Given the description of an element on the screen output the (x, y) to click on. 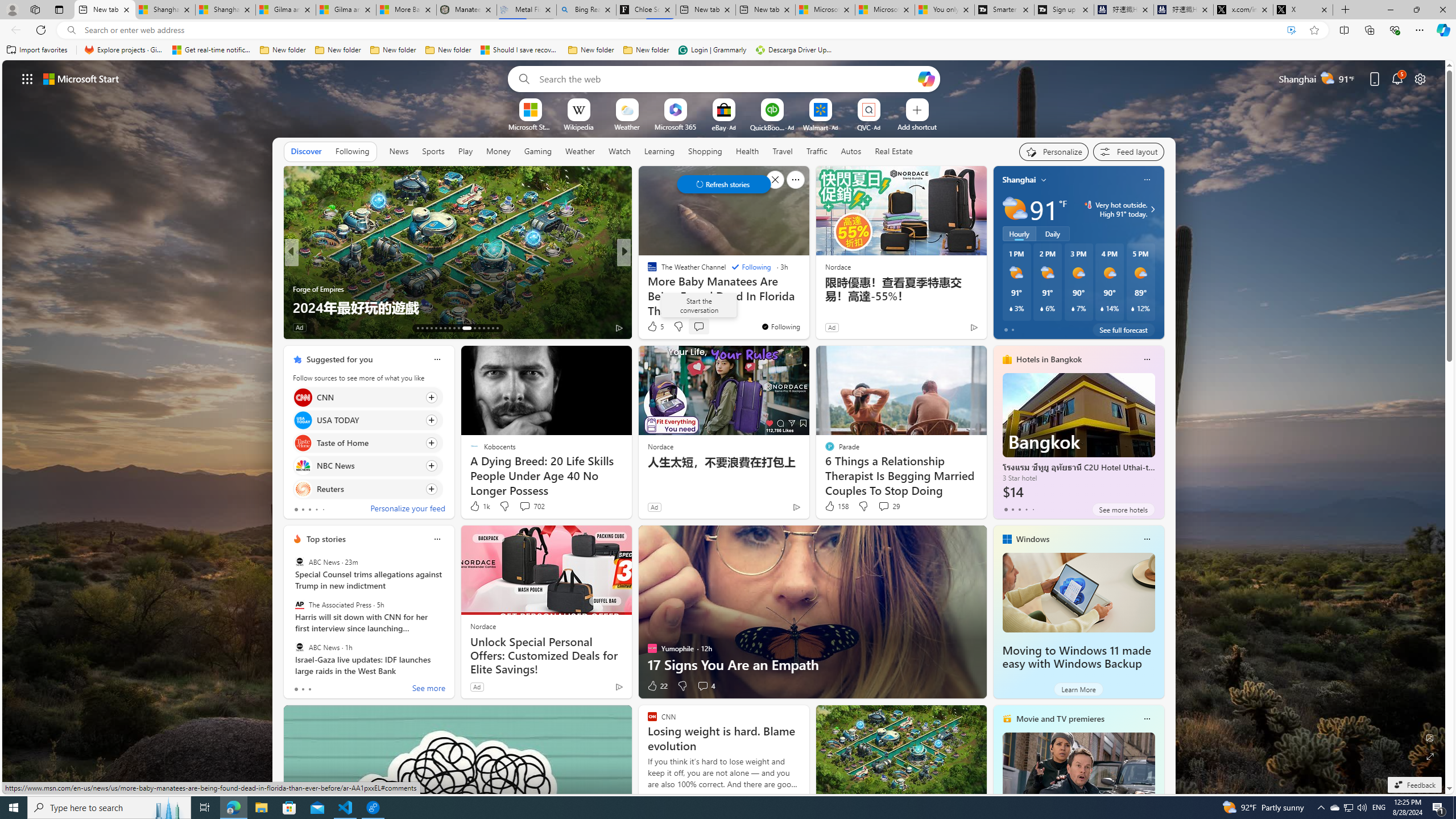
Login | Grammarly (712, 49)
Shopping (705, 151)
Partly sunny (1014, 208)
AutomationID: tab-16 (431, 328)
Bing Real Estate - Home sales and rental listings (586, 9)
Favorites bar (728, 49)
New folder (646, 49)
View comments 4 Comment (705, 685)
AutomationID: tab-41 (492, 328)
News (398, 151)
View comments 6 Comment (705, 327)
View comments 2 Comment (698, 327)
